Given the description of an element on the screen output the (x, y) to click on. 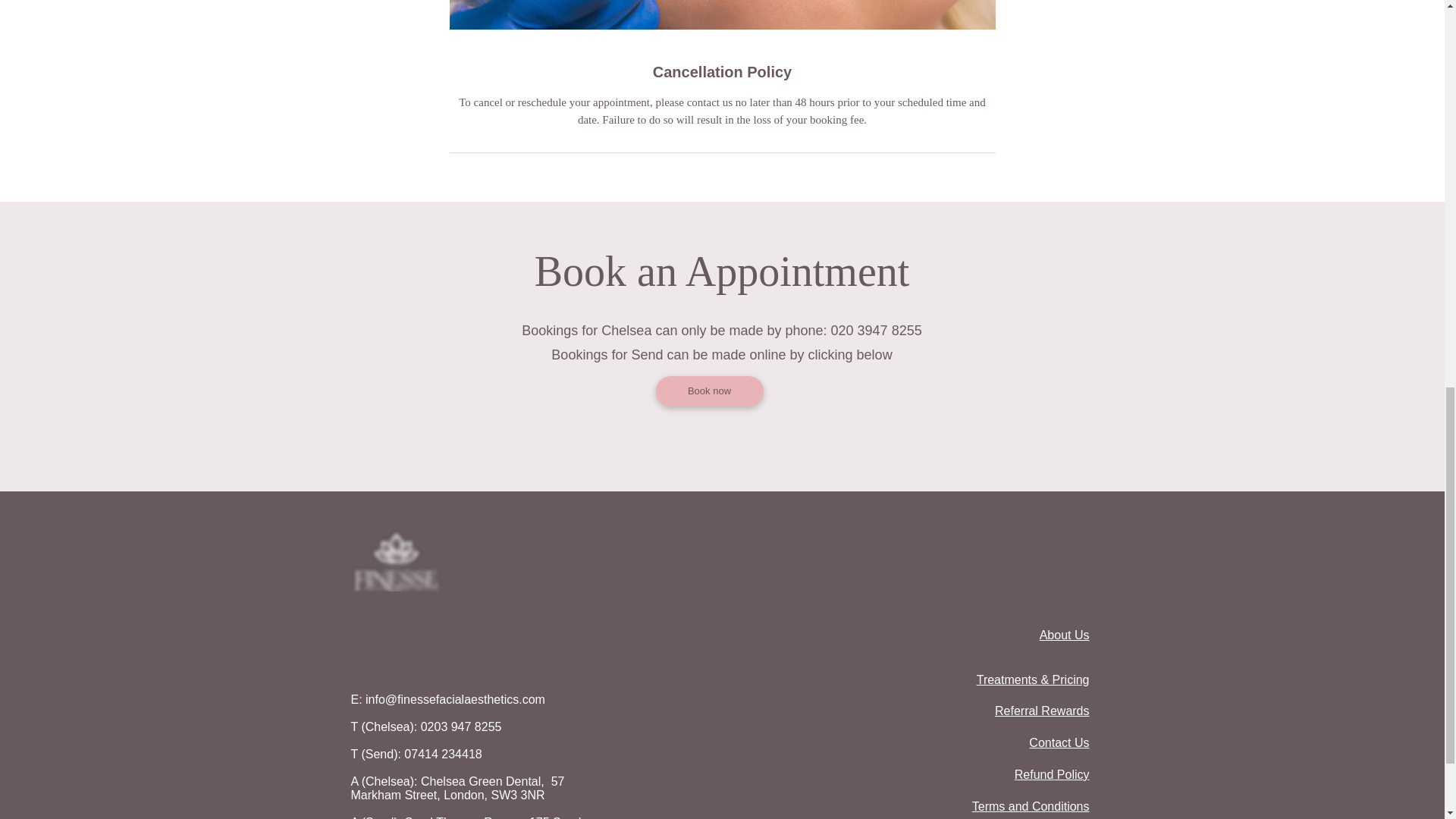
Referral Rewards (1041, 710)
Terms and Conditions (1030, 806)
About Us (1064, 634)
Book now (708, 390)
Refund Policy (1051, 774)
Contact Us (1059, 742)
